Given the description of an element on the screen output the (x, y) to click on. 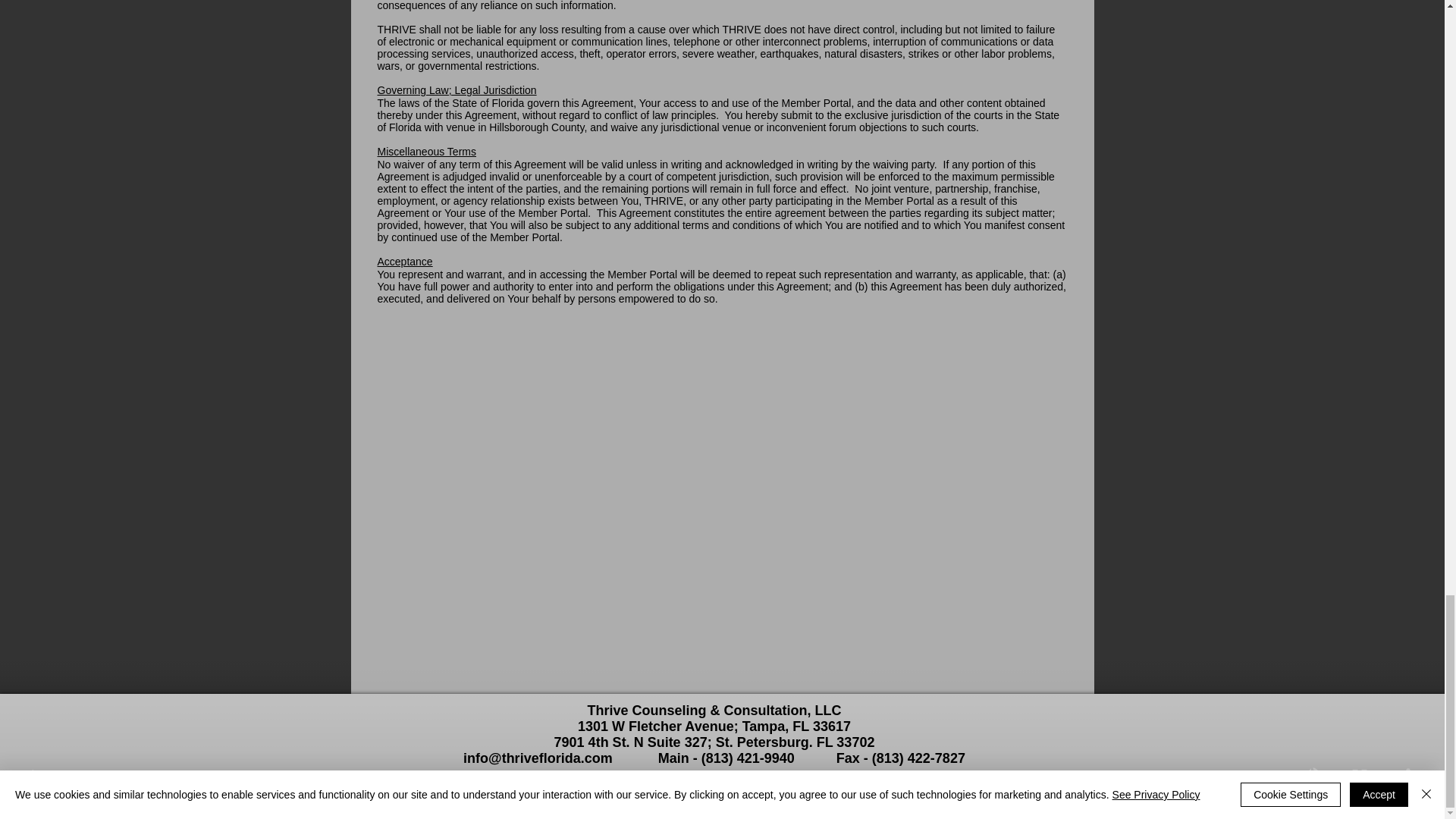
Website Privacy Policy (442, 779)
